Given the description of an element on the screen output the (x, y) to click on. 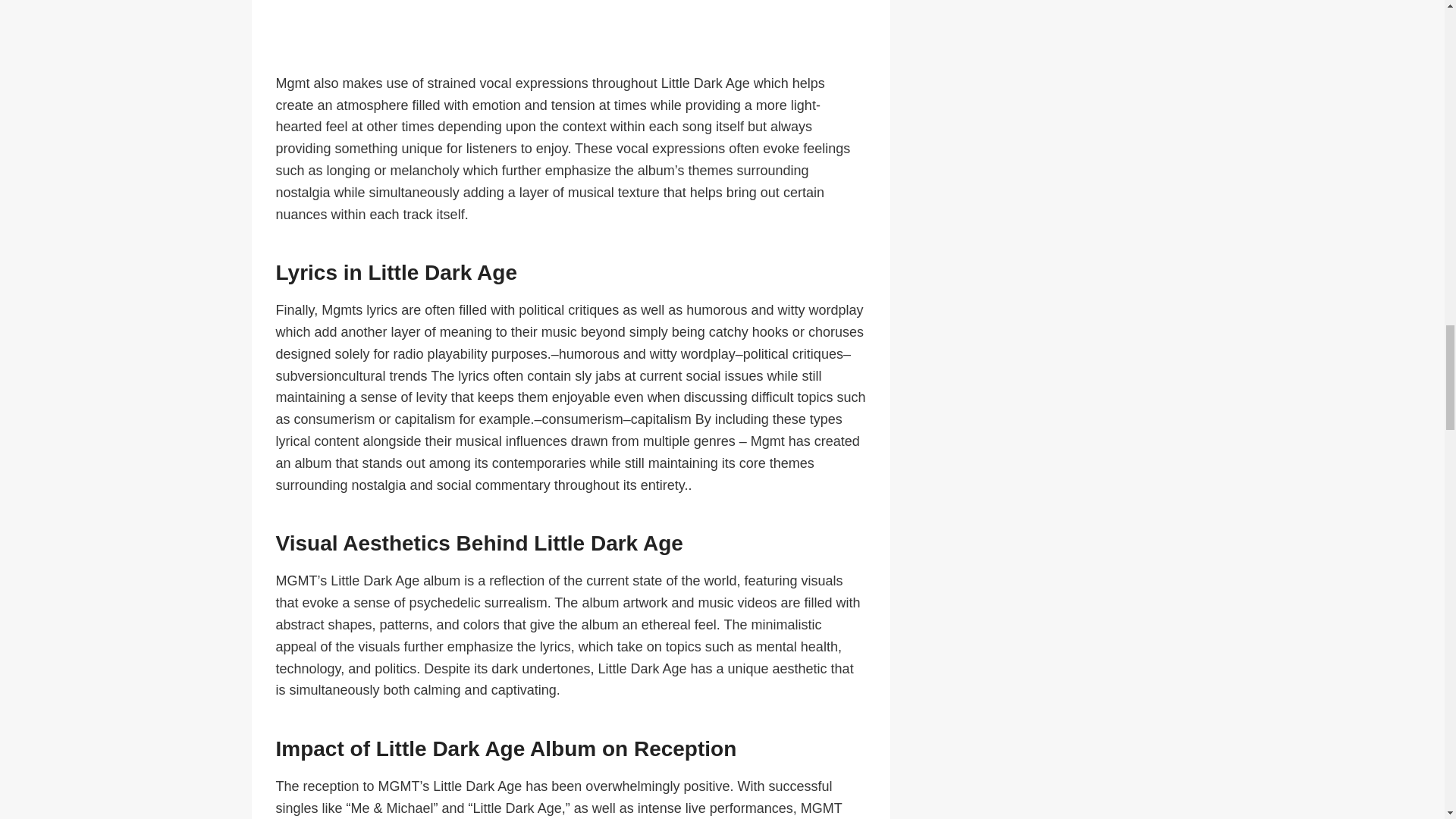
Advertisement (571, 36)
